Given the description of an element on the screen output the (x, y) to click on. 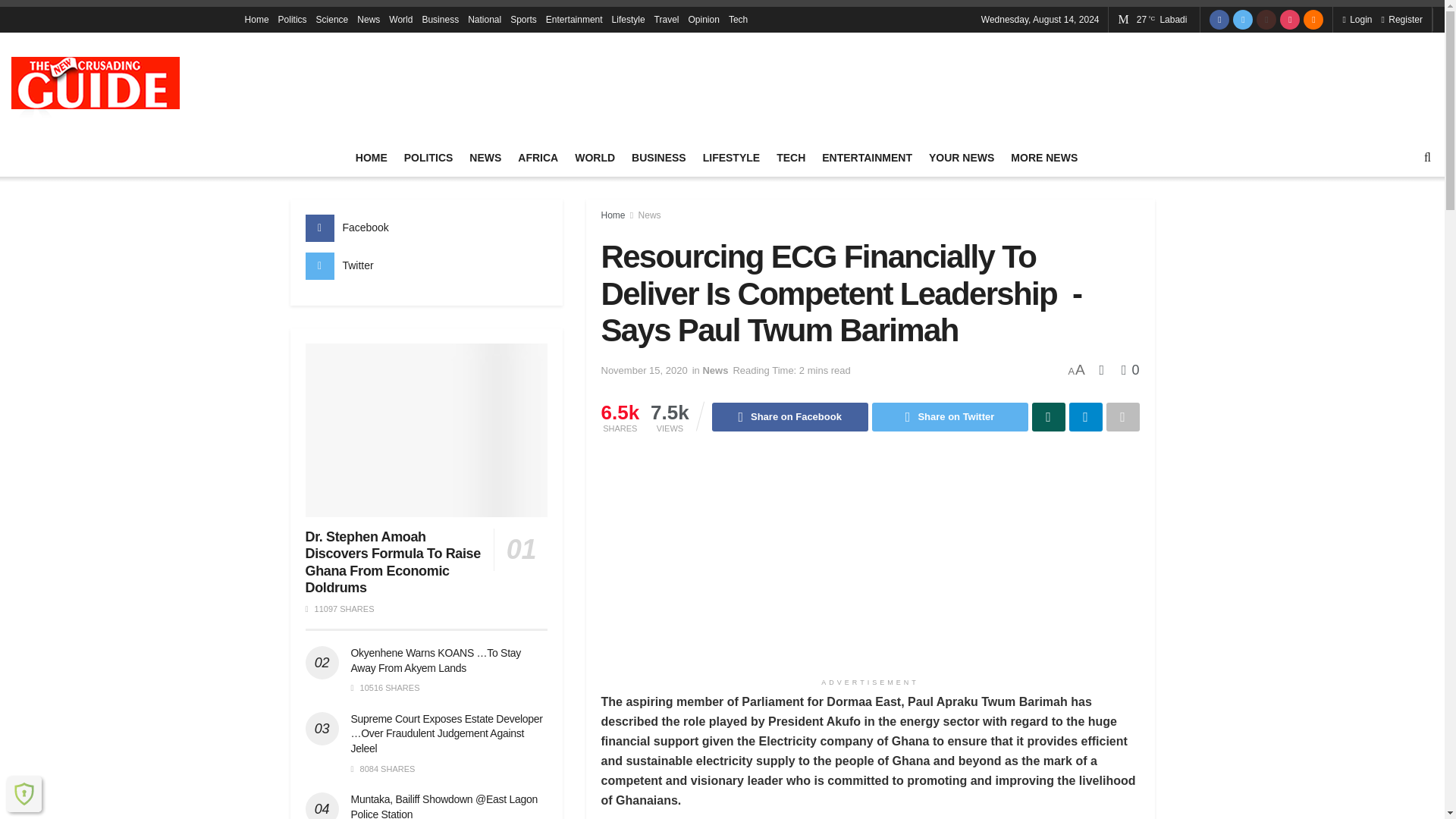
AFRICA (537, 157)
World (400, 19)
Opinion (703, 19)
POLITICS (428, 157)
National (483, 19)
Shield Security (23, 793)
Login (1356, 19)
LIFESTYLE (731, 157)
Entertainment (574, 19)
ENTERTAINMENT (867, 157)
